Given the description of an element on the screen output the (x, y) to click on. 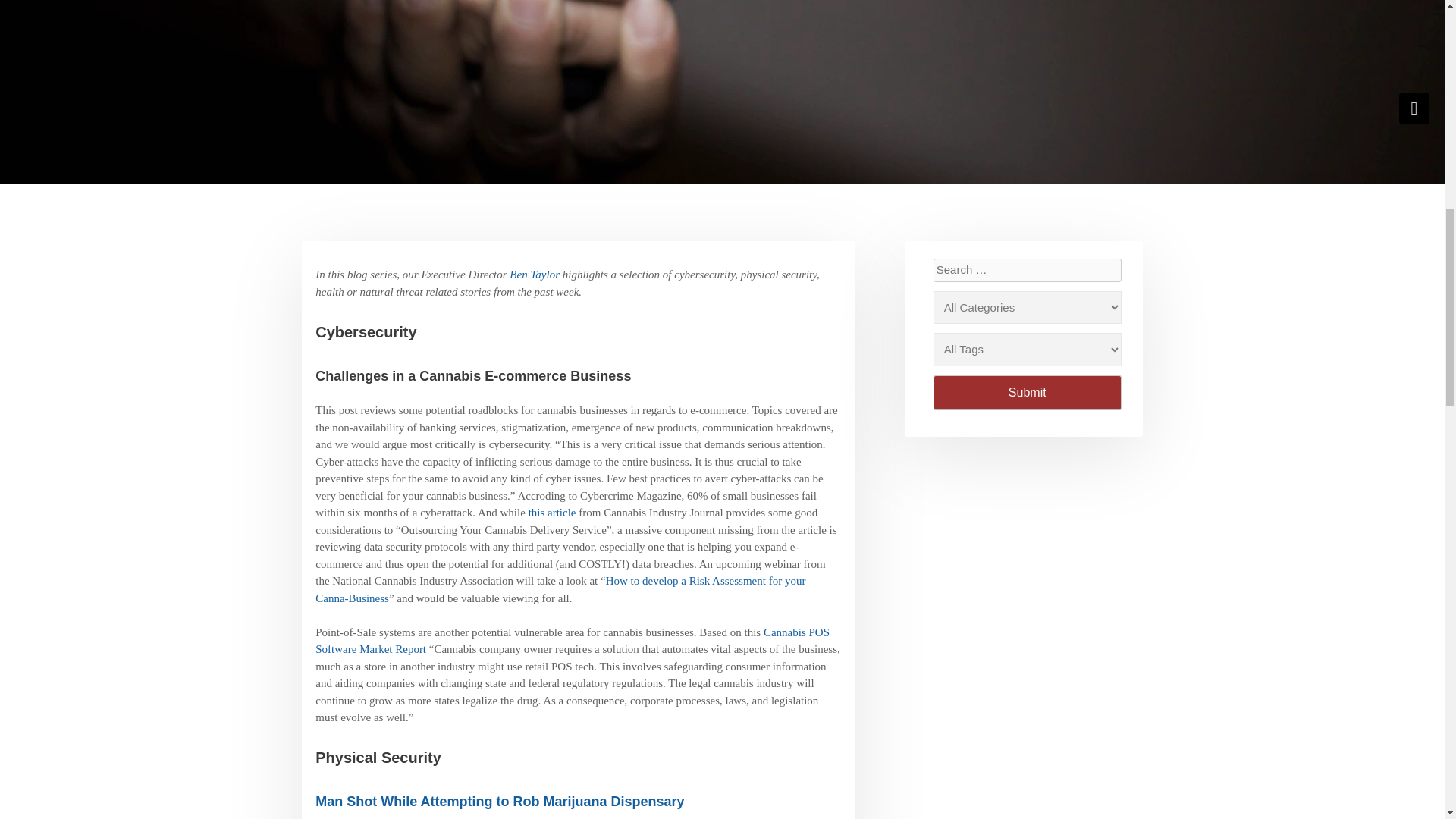
this article (552, 512)
Cannabis POS Software Market Report (572, 641)
How to develop a Risk Assessment for your Canna-Business (560, 589)
Submit (1027, 392)
Ben Taylor (534, 274)
Challenges in a Cannabis E-commerce Business (472, 376)
Submit (1027, 392)
Man Shot While Attempting to Rob Marijuana Dispensary (499, 801)
